Given the description of an element on the screen output the (x, y) to click on. 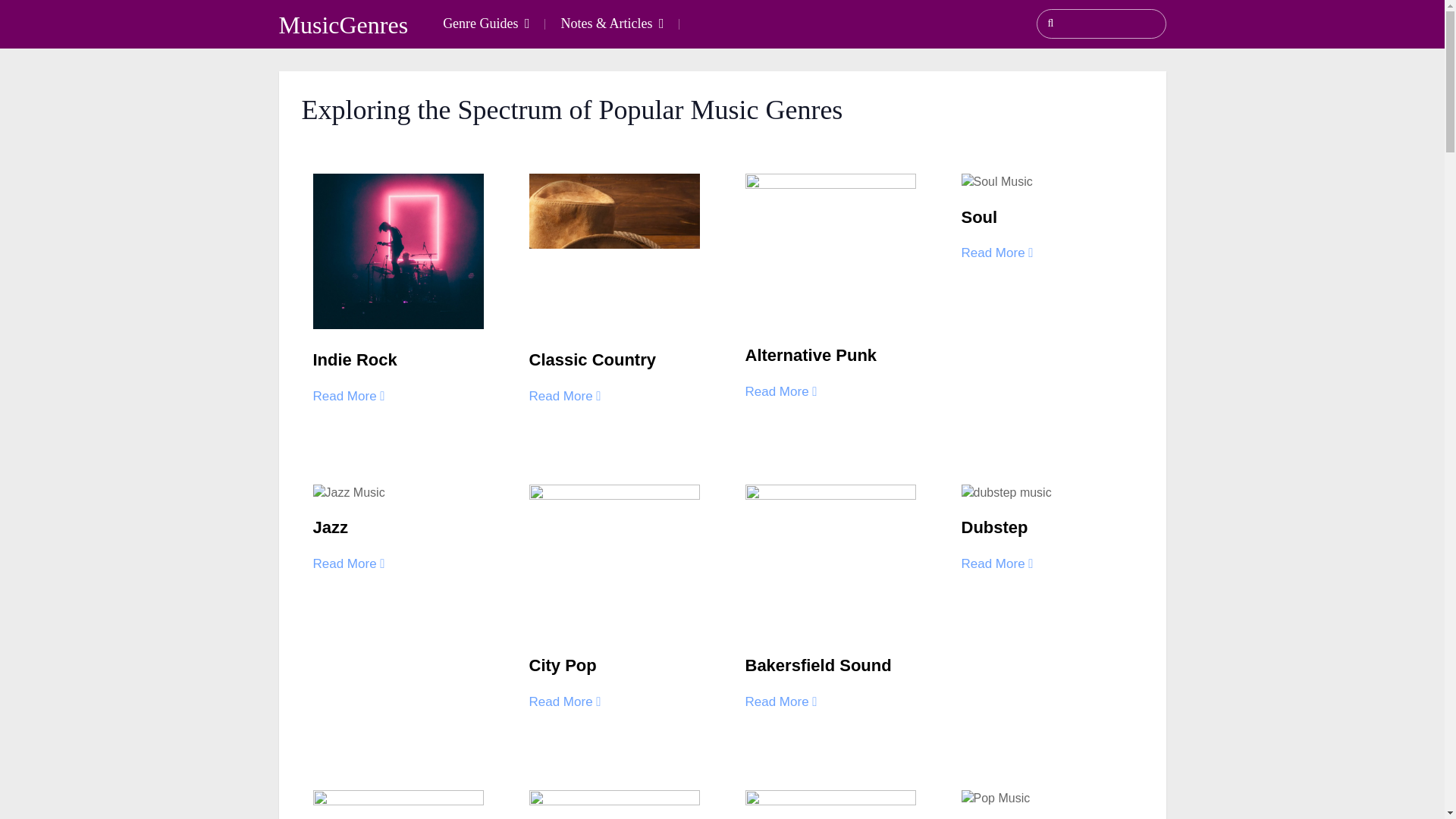
MusicGenres (344, 24)
Genre Guides (485, 24)
